Given the description of an element on the screen output the (x, y) to click on. 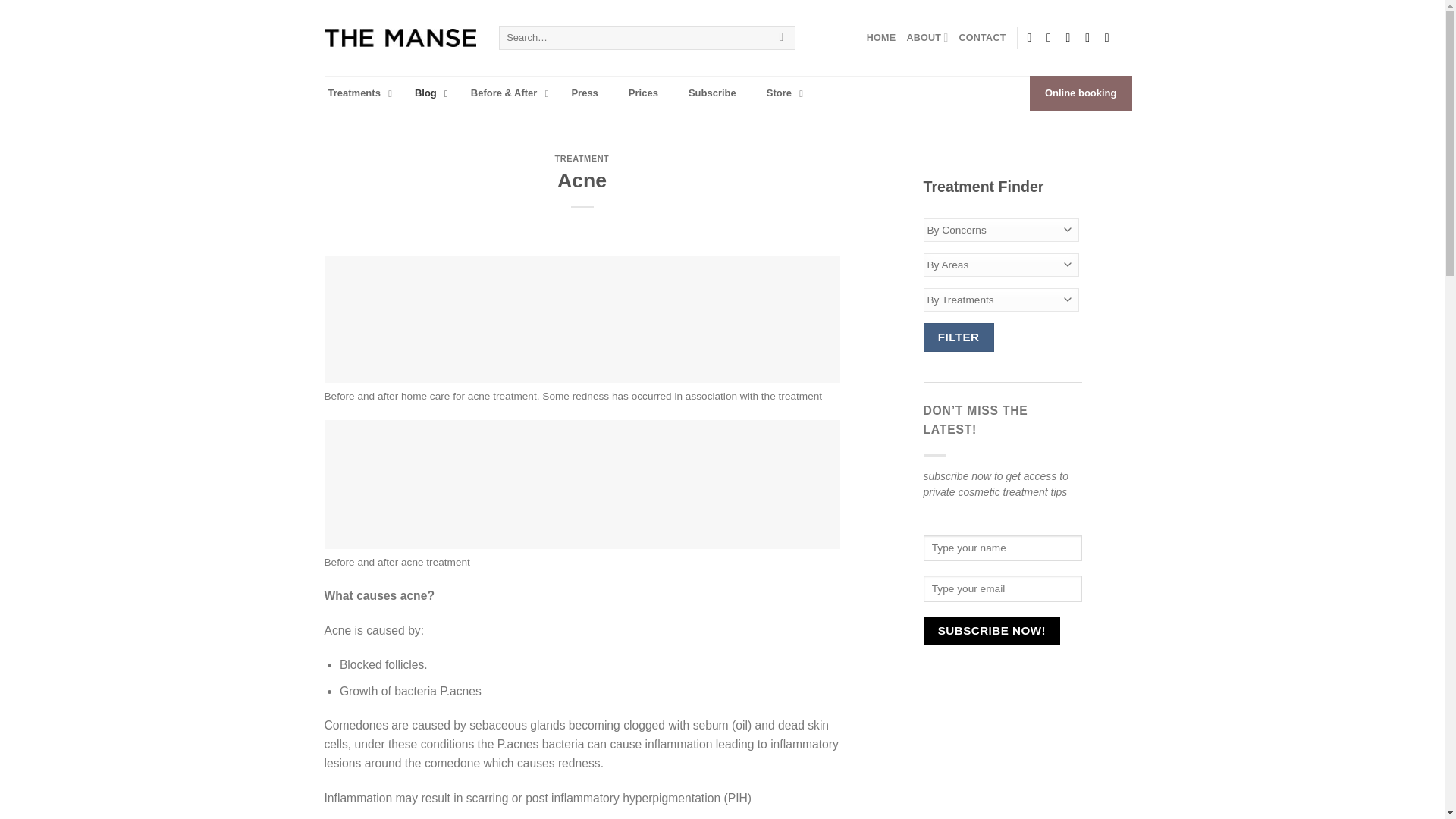
Send us an email (1071, 37)
HOME (881, 37)
Treatments (355, 93)
Subscribe now! (992, 631)
ABOUT (926, 37)
Follow on YouTube (1110, 37)
Filter (958, 337)
CONTACT (982, 37)
Follow on Instagram (1052, 37)
